Given the description of an element on the screen output the (x, y) to click on. 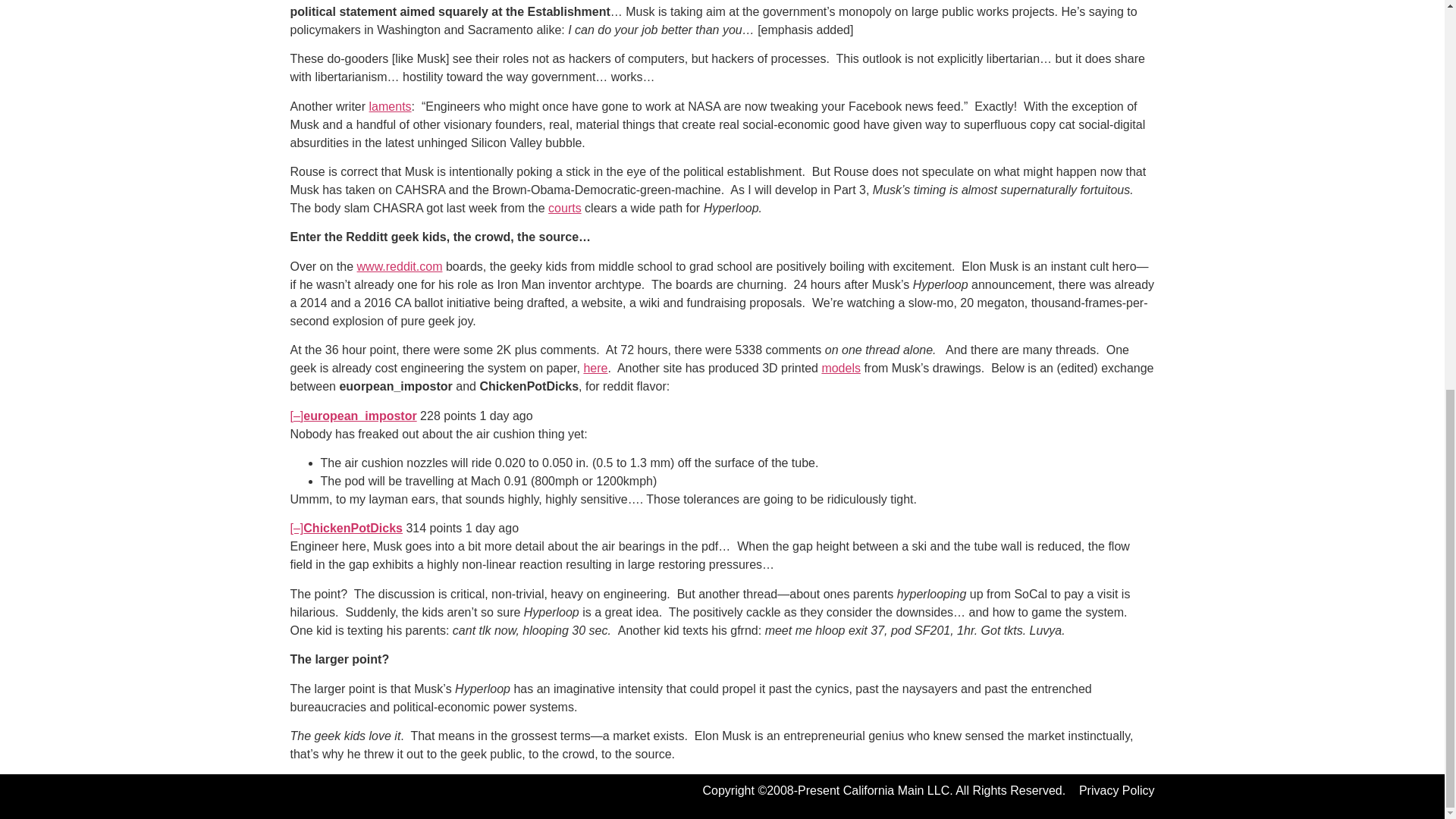
courts (564, 207)
www.reddit.com (399, 266)
models (840, 367)
laments (390, 106)
here (595, 367)
ChickenPotDicks (352, 527)
Privacy Policy (1116, 789)
